Given the description of an element on the screen output the (x, y) to click on. 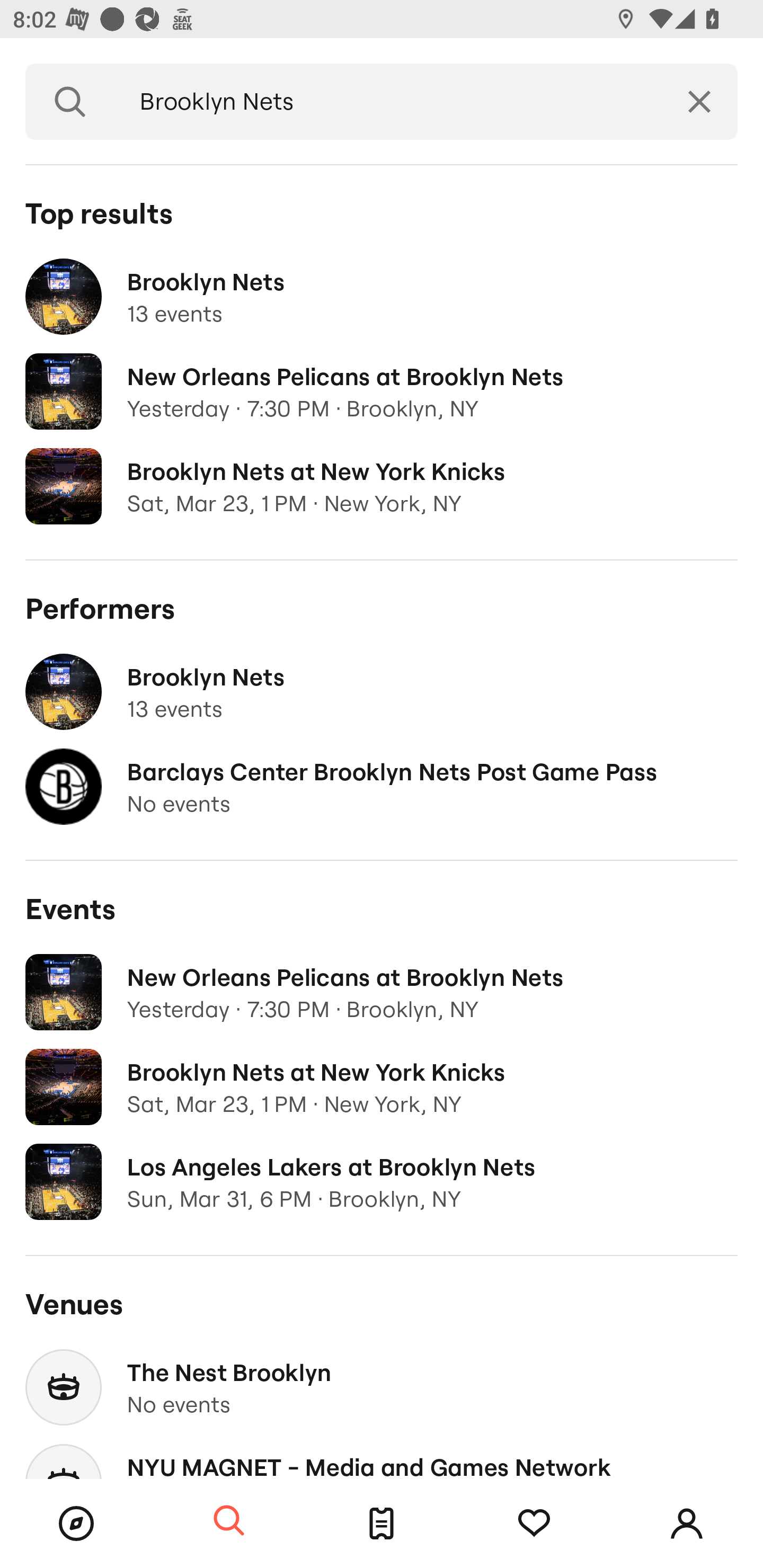
Search (69, 101)
Brooklyn Nets (387, 101)
Clear (699, 101)
Brooklyn Nets 13 events (381, 296)
Brooklyn Nets 13 events (381, 692)
The Nest Brooklyn No events (381, 1387)
Browse (76, 1523)
Search (228, 1521)
Tickets (381, 1523)
Tracking (533, 1523)
Account (686, 1523)
